Given the description of an element on the screen output the (x, y) to click on. 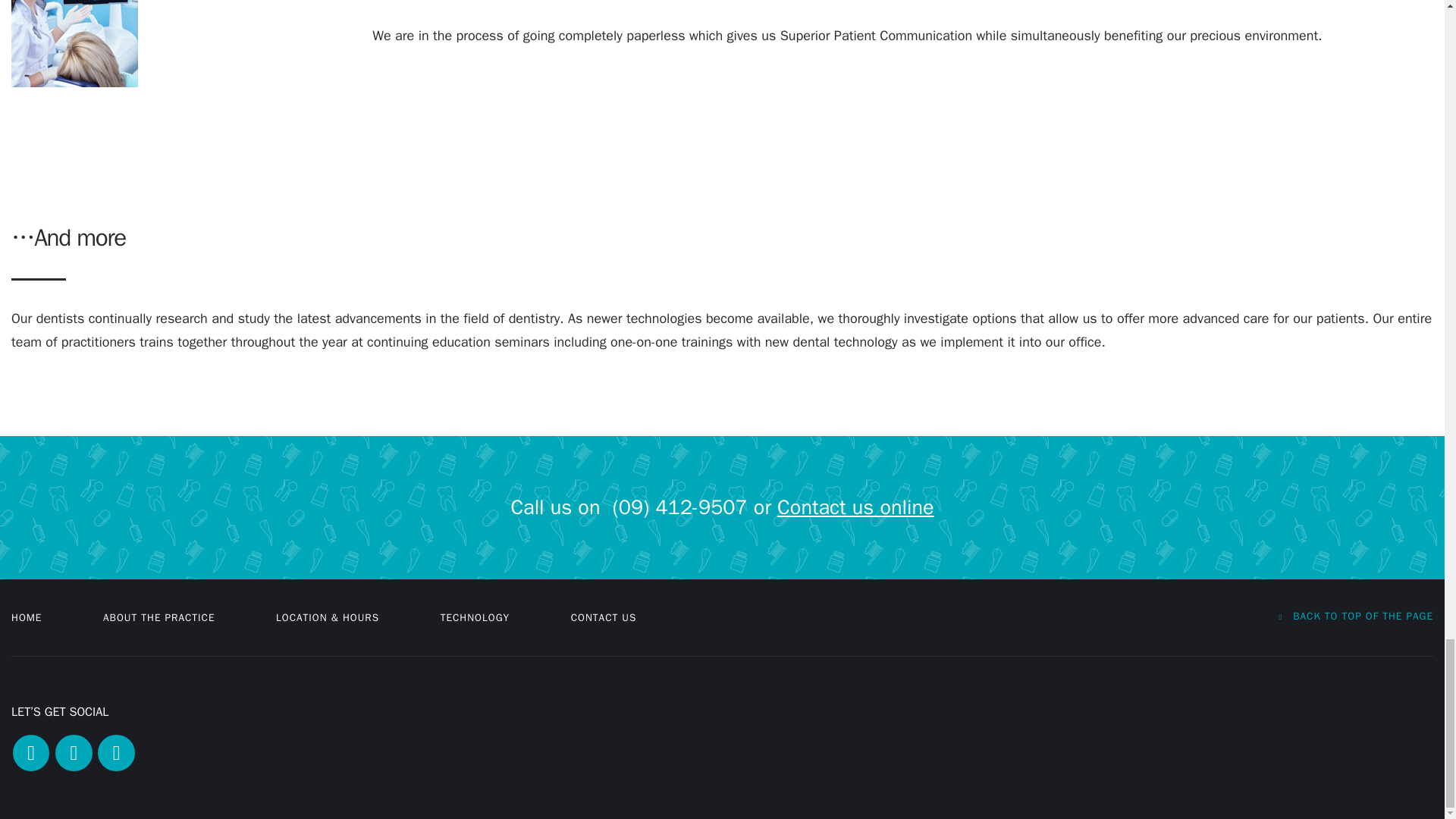
HOME (26, 617)
ABOUT THE PRACTICE (159, 617)
computerised patient records (74, 43)
CONTACT US (603, 617)
TECHNOLOGY (475, 617)
BACK TO TOP OF THE PAGE (1355, 616)
Contact us online (855, 507)
BACK TO TOP OF THE PAGE (1355, 616)
